Given the description of an element on the screen output the (x, y) to click on. 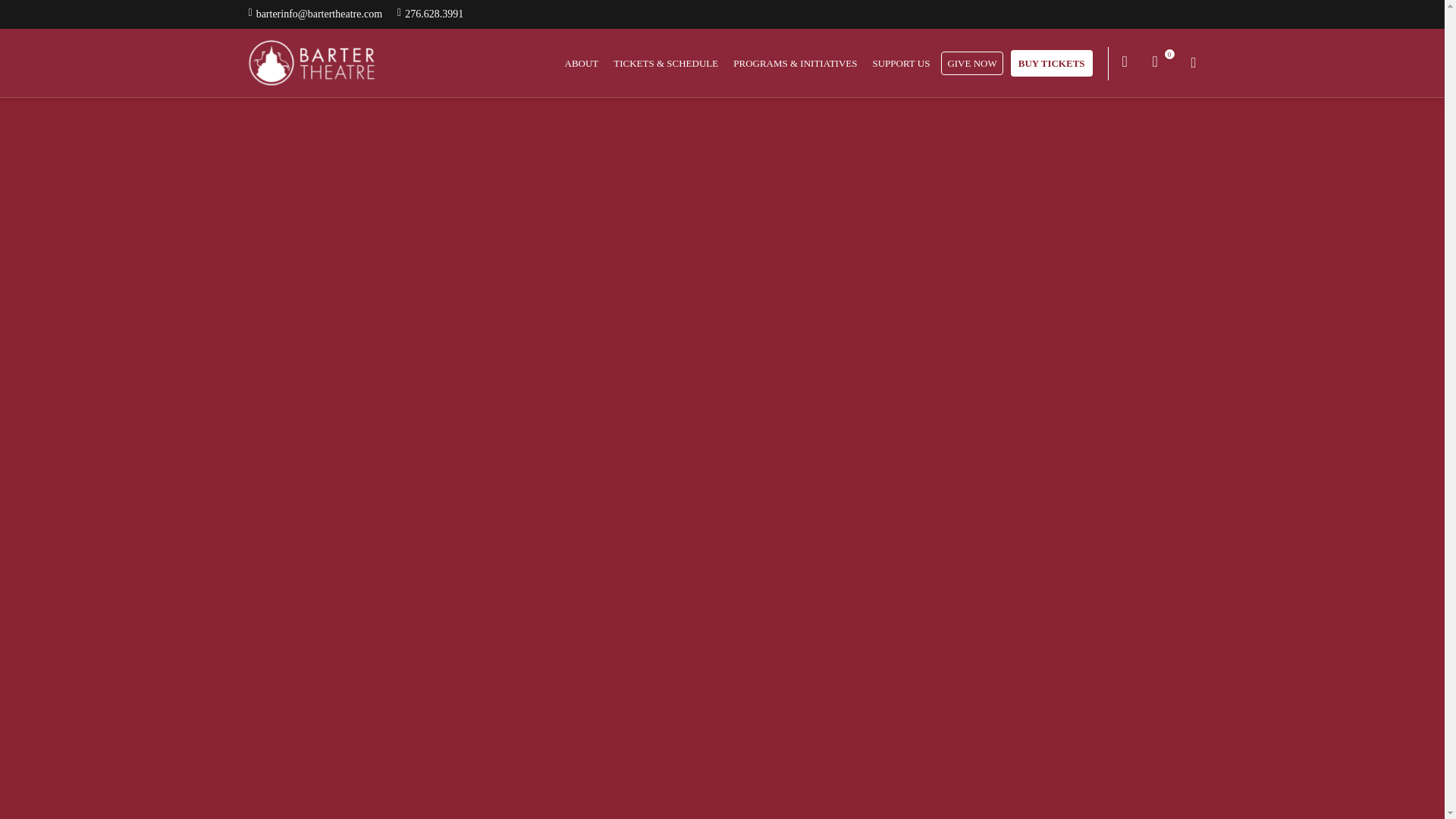
276.628.3991 (433, 13)
